Given the description of an element on the screen output the (x, y) to click on. 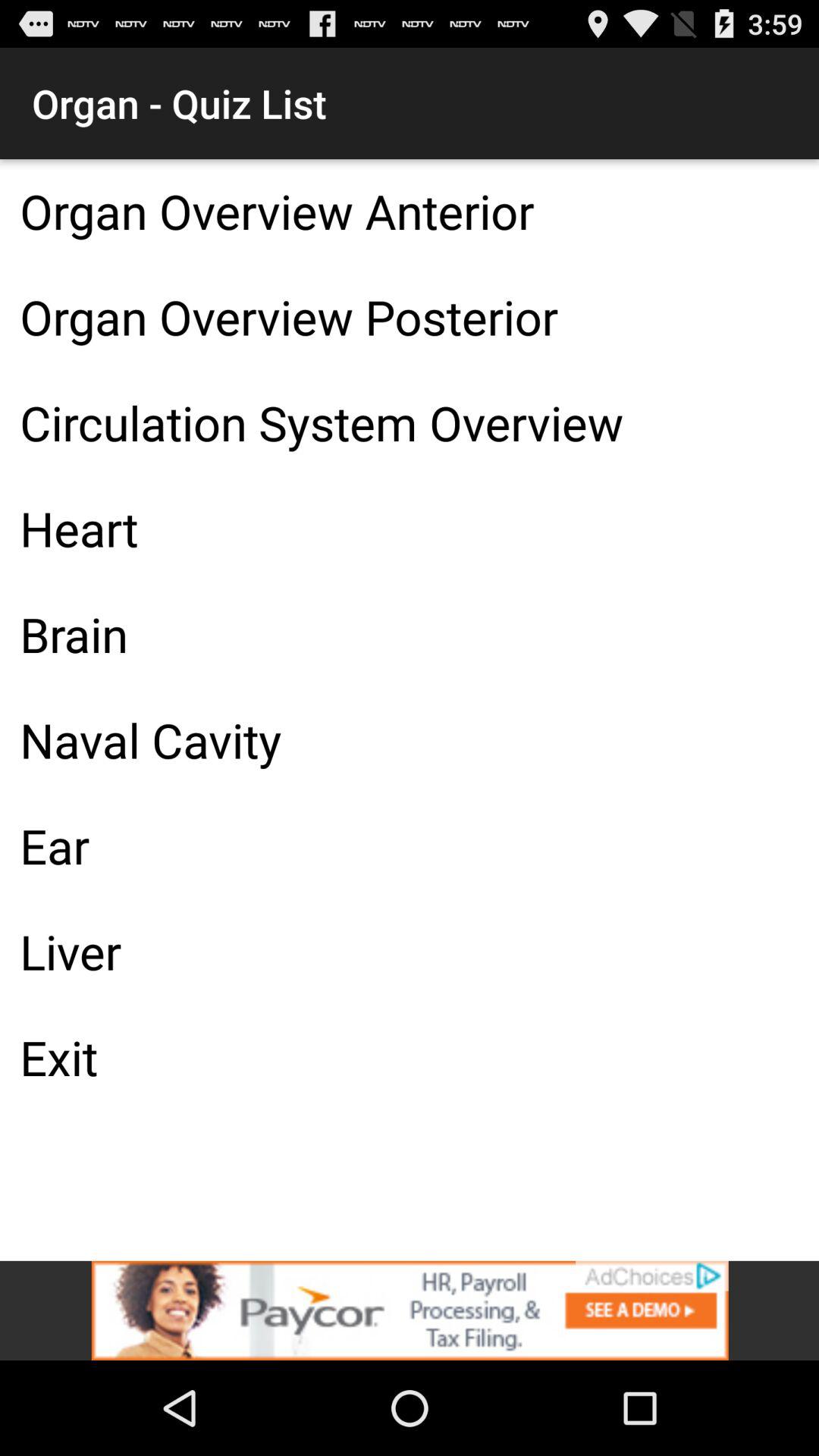
select the add (409, 1310)
